Given the description of an element on the screen output the (x, y) to click on. 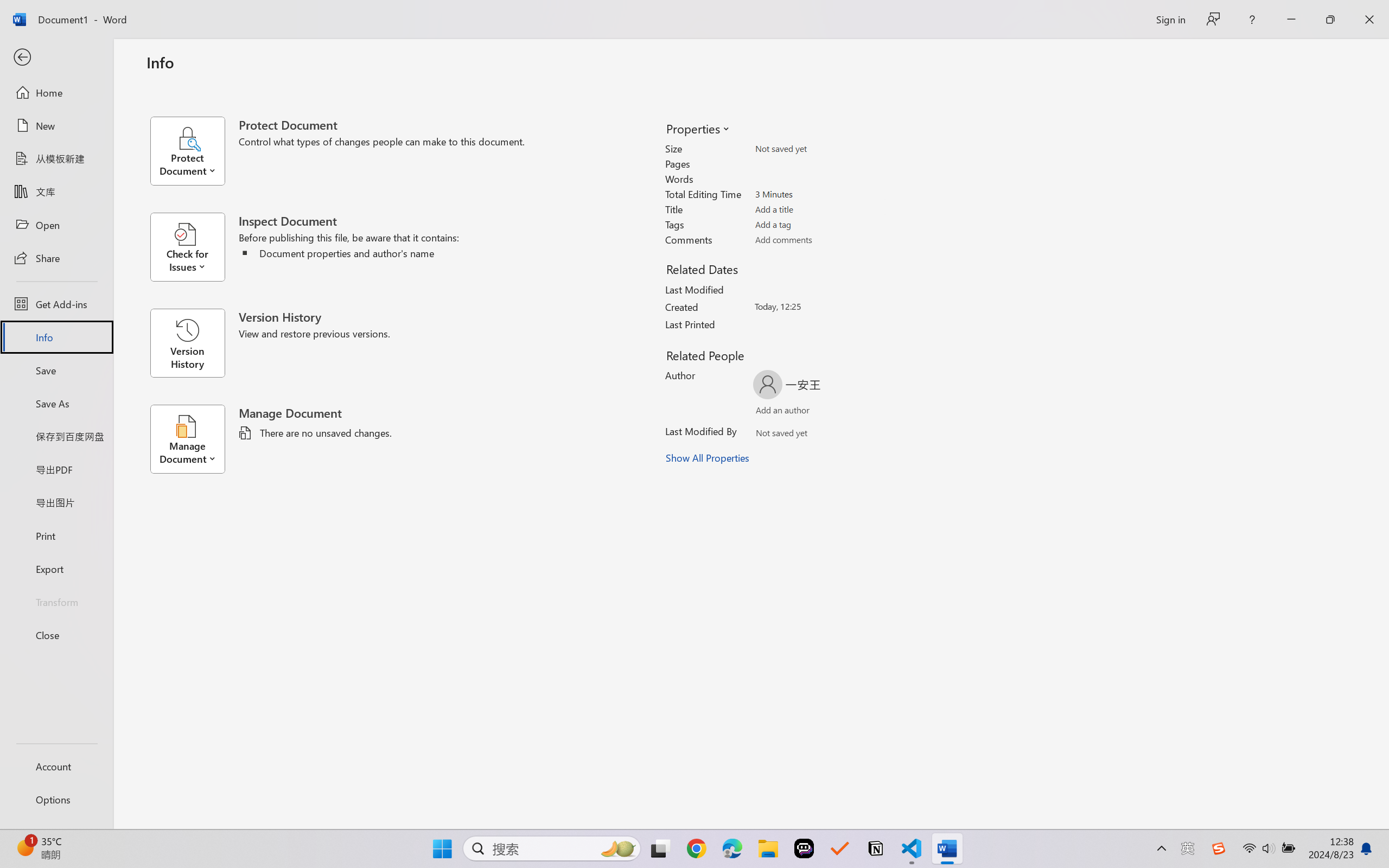
Back (56, 57)
New (56, 125)
Add an author (772, 411)
